Given the description of an element on the screen output the (x, y) to click on. 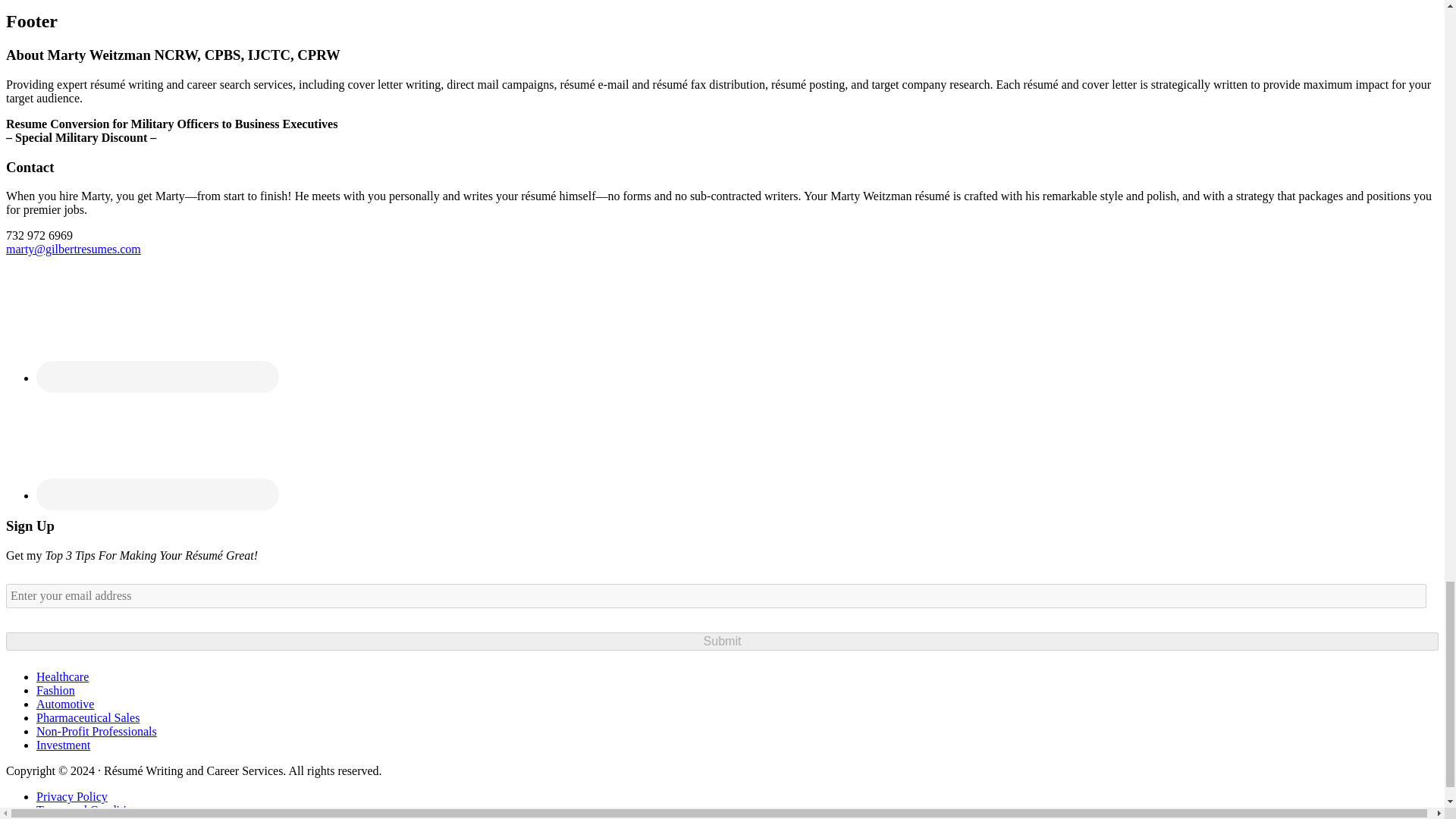
LinkedIn (156, 325)
Twitter (156, 442)
Submit (721, 641)
